Given the description of an element on the screen output the (x, y) to click on. 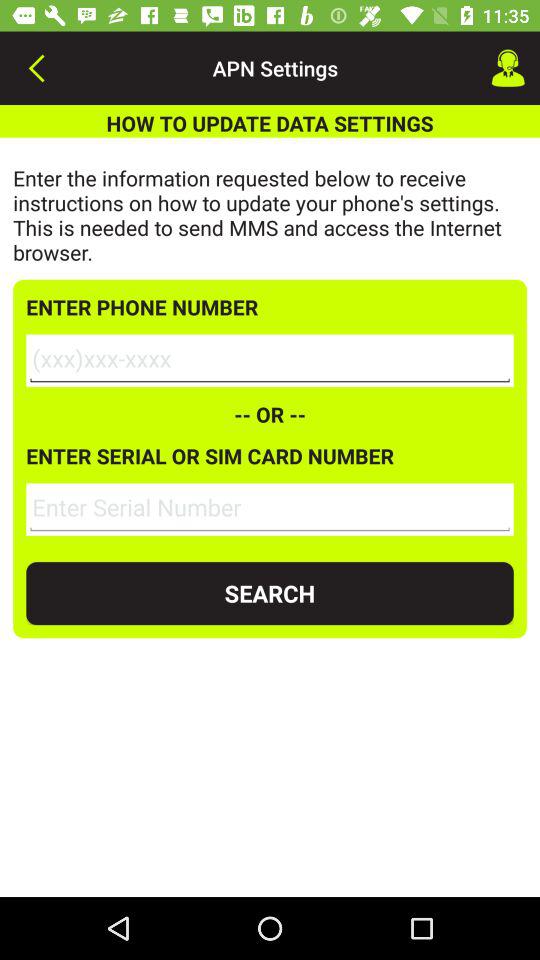
turn off the item to the left of apn settings (36, 68)
